Given the description of an element on the screen output the (x, y) to click on. 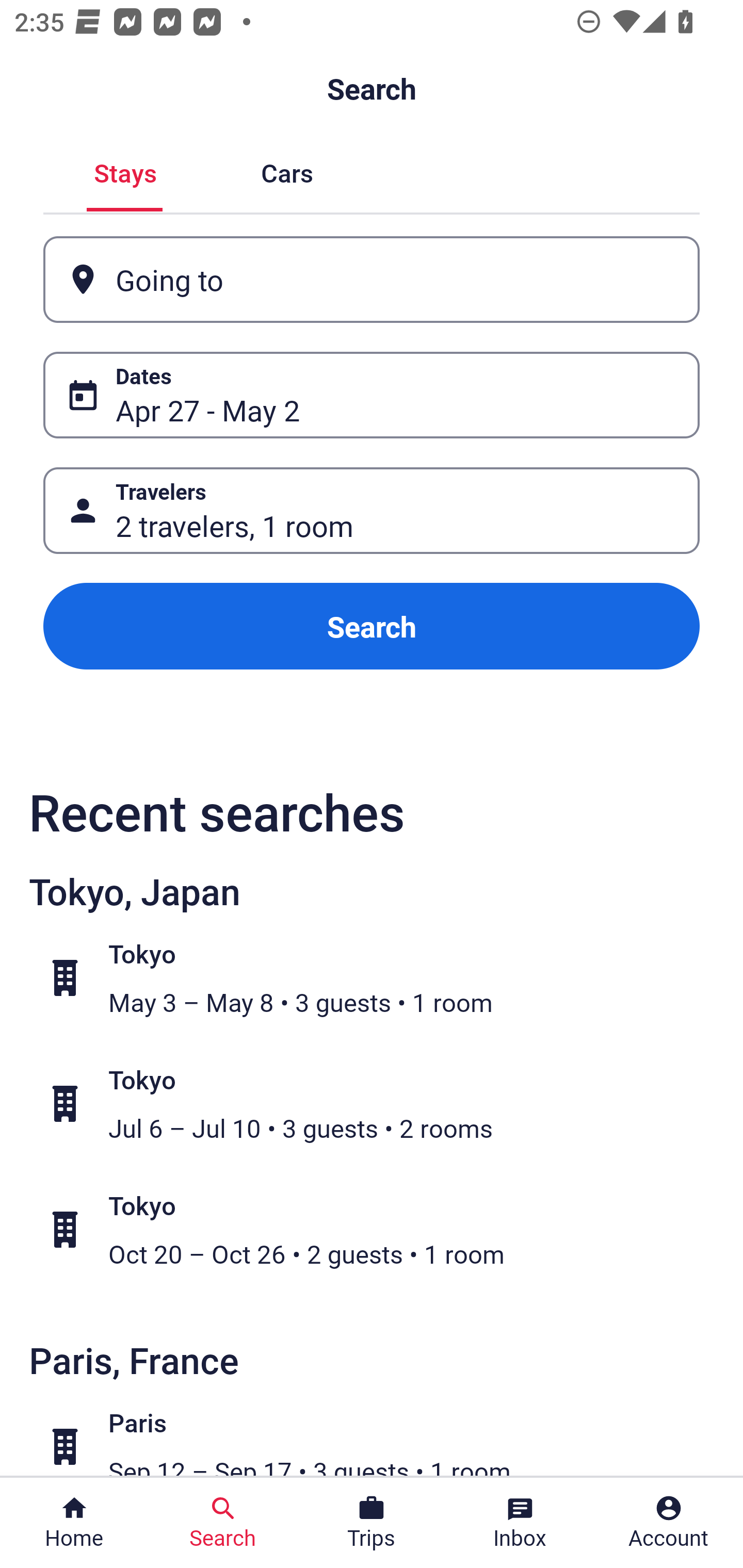
Cars (286, 171)
Going to Button (371, 279)
Dates Button Apr 27 - May 2 (371, 395)
Travelers Button 2 travelers, 1 room (371, 510)
Search (371, 626)
Tokyo May 3 – May 8 • 3 guests • 1 room (382, 978)
Tokyo Jul 6 – Jul 10 • 3 guests • 2 rooms (382, 1103)
Tokyo Oct 20 – Oct 26 • 2 guests • 1 room (382, 1229)
Home Home Button (74, 1522)
Trips Trips Button (371, 1522)
Inbox Inbox Button (519, 1522)
Account Profile. Button (668, 1522)
